Given the description of an element on the screen output the (x, y) to click on. 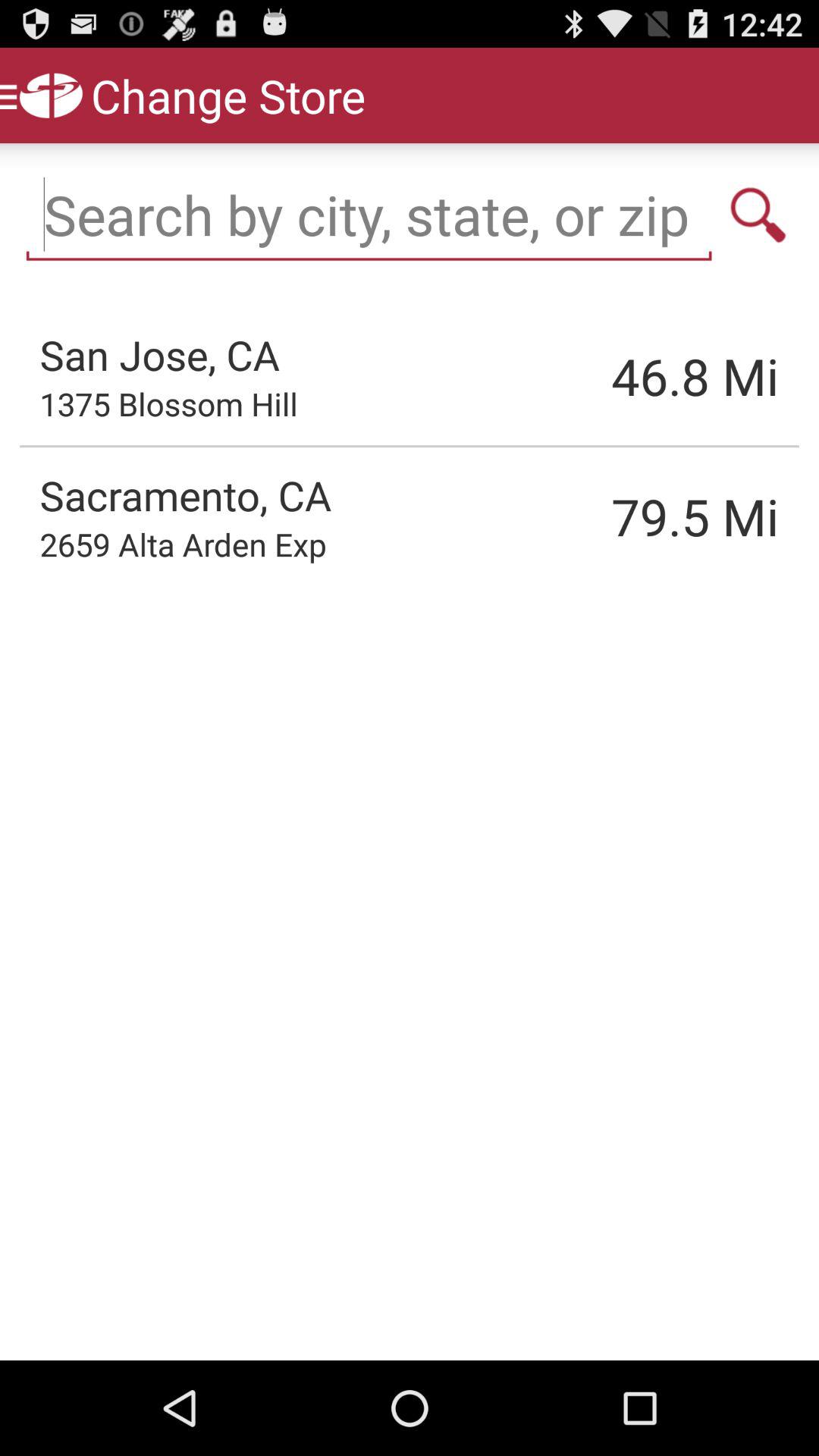
press the item above the 1375 blossom hill app (159, 354)
